Given the description of an element on the screen output the (x, y) to click on. 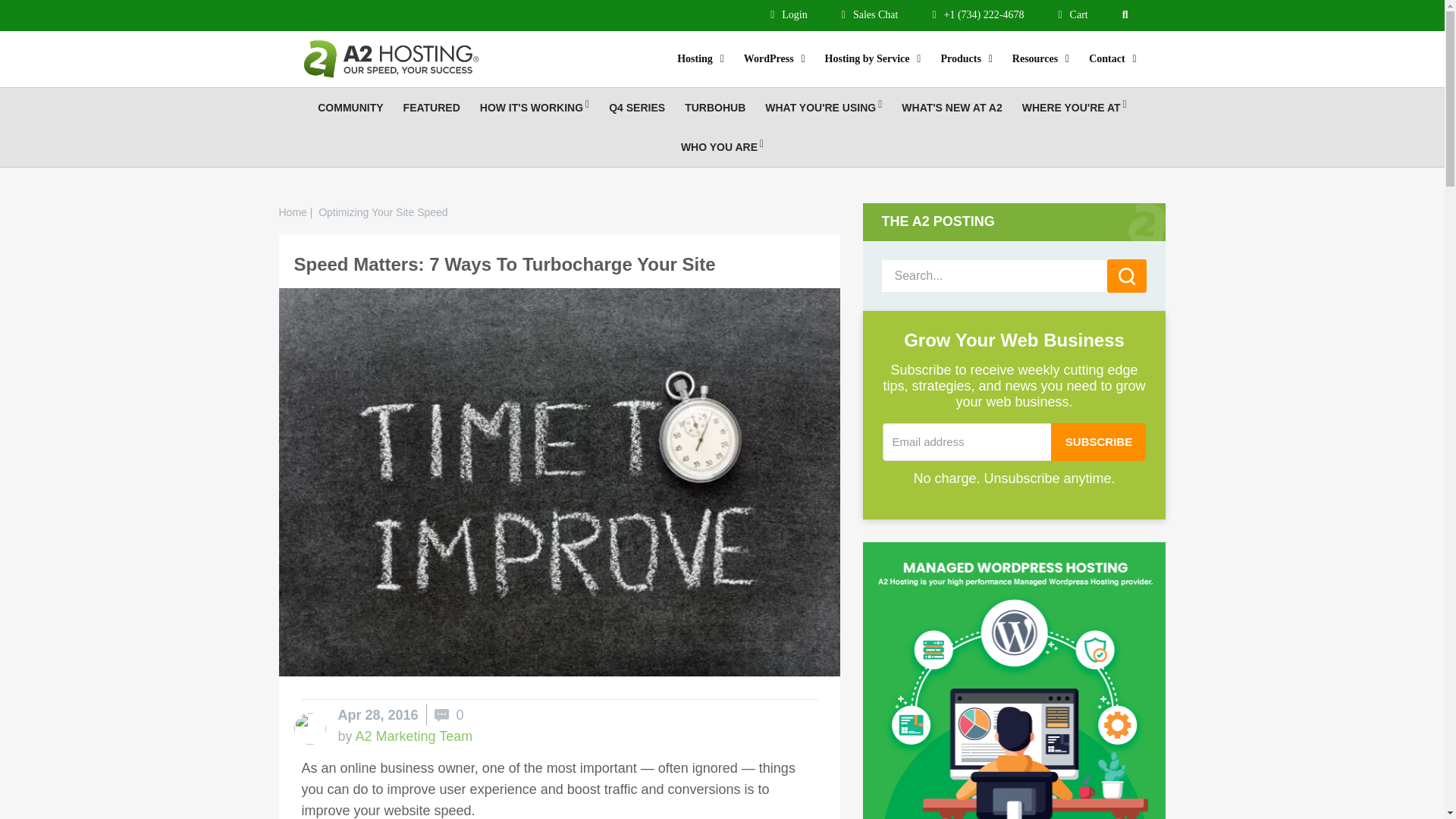
View all posts in Community (350, 107)
Chat (869, 14)
View all posts in What's New At A2 (951, 107)
Sales Chat (869, 14)
View all posts in Q4 Series (636, 107)
View all posts in What You're Using (823, 107)
Cart (1072, 14)
Subscribe (1098, 442)
View all posts in Who You Are (722, 147)
View all posts in Featured (431, 107)
View all posts in TurboHub (715, 107)
Login (789, 14)
View all posts in Where You're At (1074, 107)
My Cart (1072, 14)
Login (789, 14)
